Given the description of an element on the screen output the (x, y) to click on. 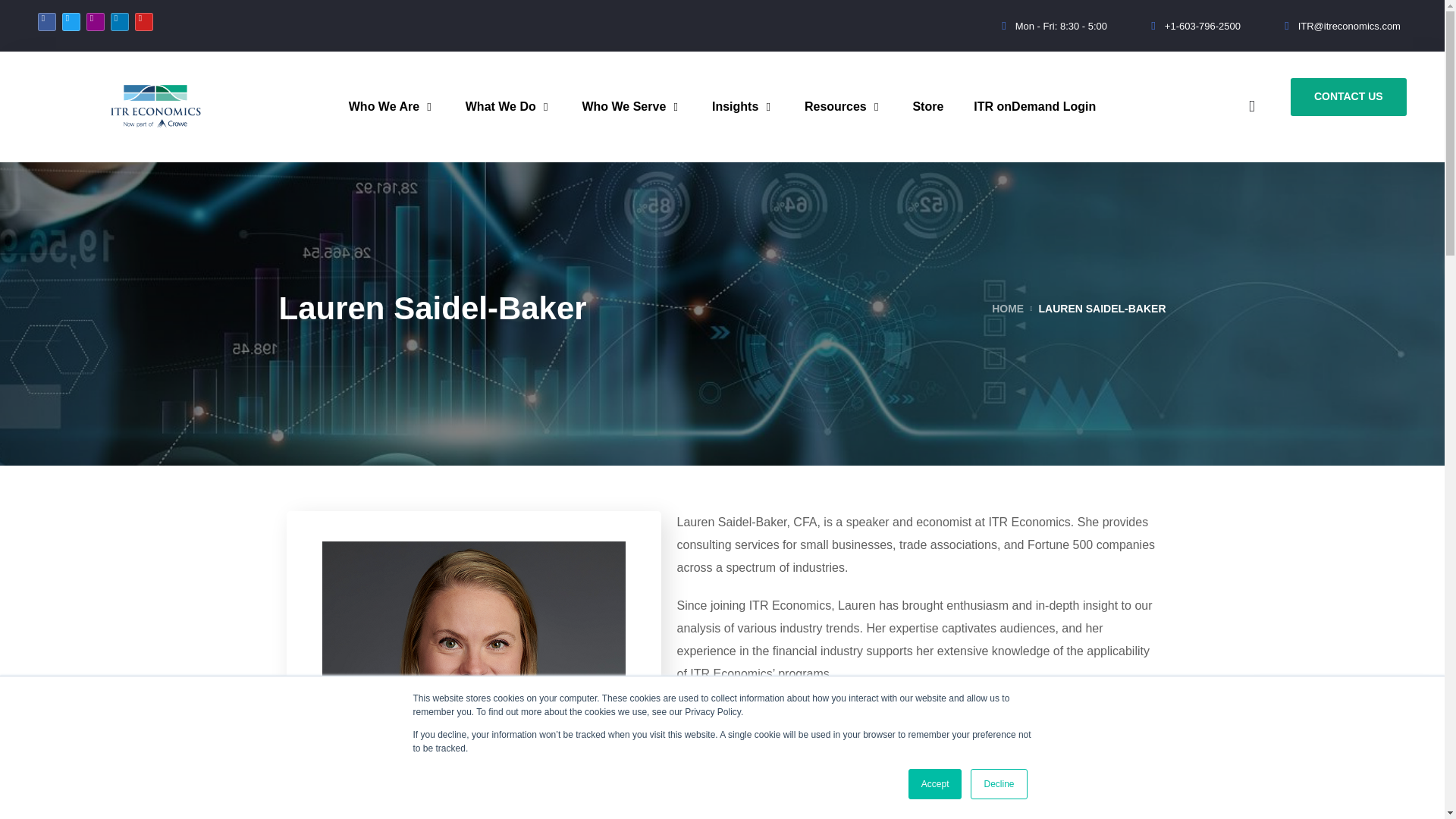
Who We Serve (631, 106)
Insights (743, 106)
Resources (842, 106)
Accept (935, 784)
What We Do (508, 106)
Who We Are (391, 106)
Decline (998, 784)
